Given the description of an element on the screen output the (x, y) to click on. 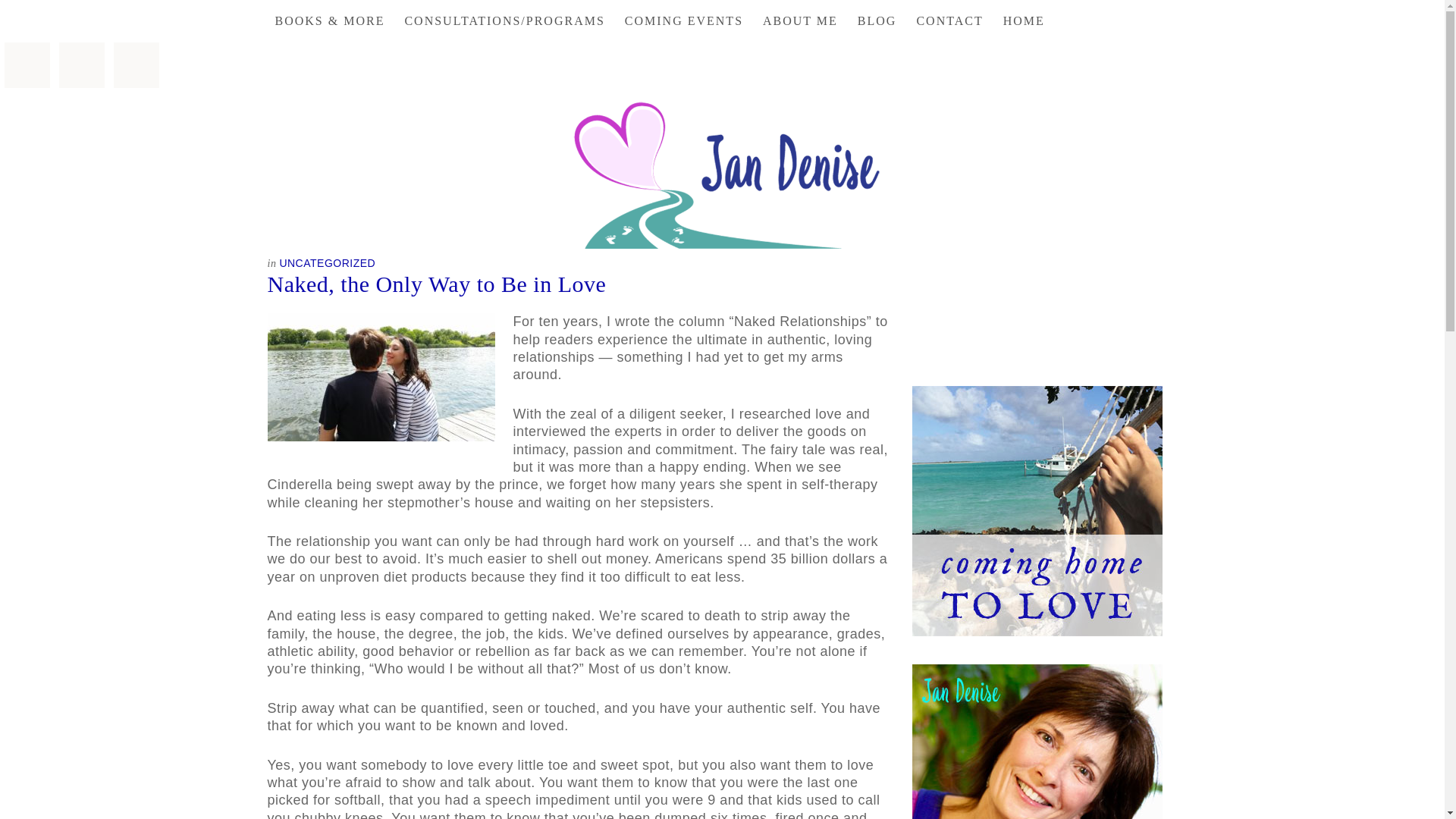
HOME (1023, 21)
BLOG (877, 21)
COMING EVENTS (684, 21)
ABOUT ME (800, 21)
UNCATEGORIZED (327, 263)
CONTACT (949, 21)
